Given the description of an element on the screen output the (x, y) to click on. 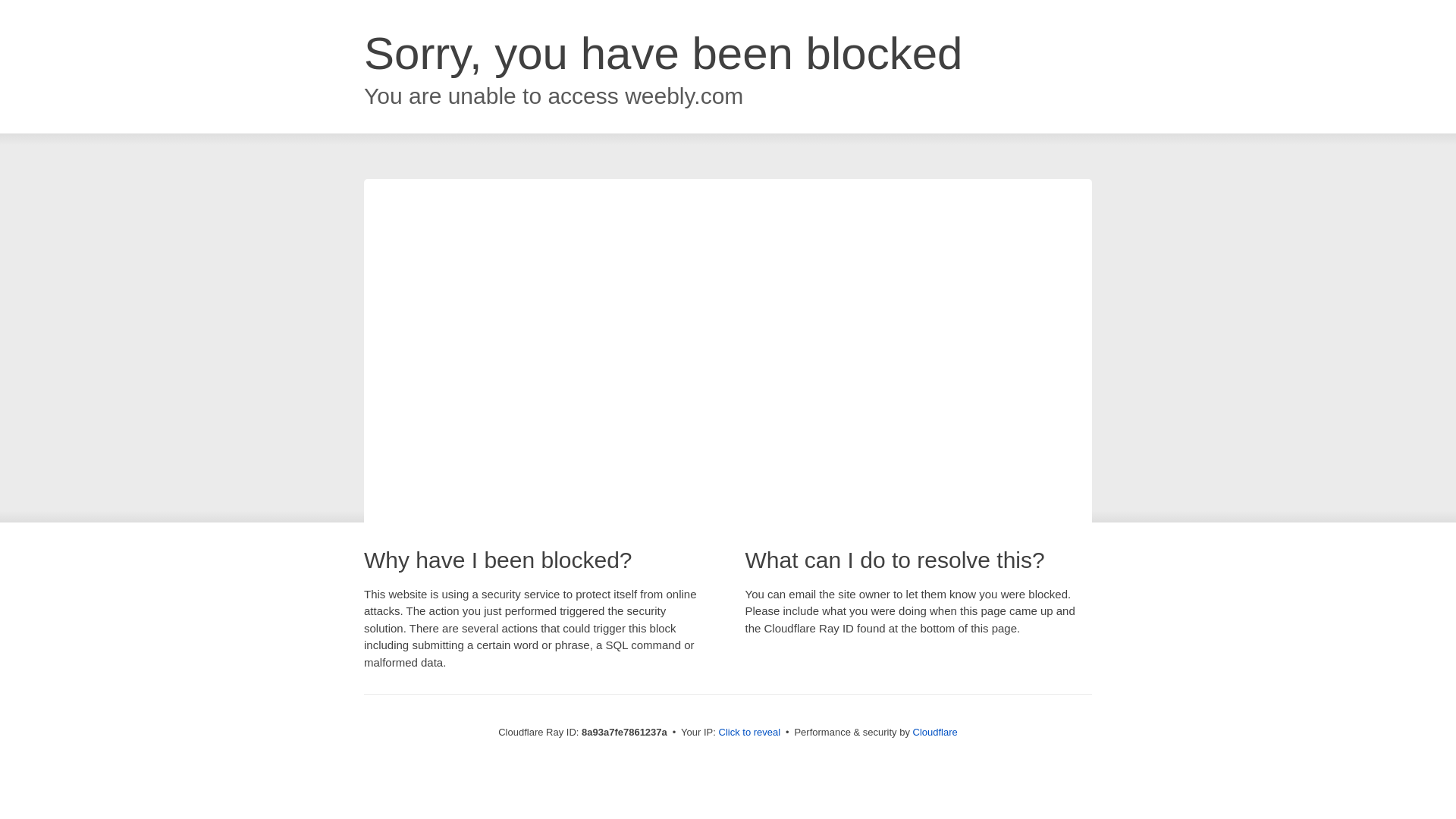
Click to reveal (749, 732)
Cloudflare (935, 731)
